Given the description of an element on the screen output the (x, y) to click on. 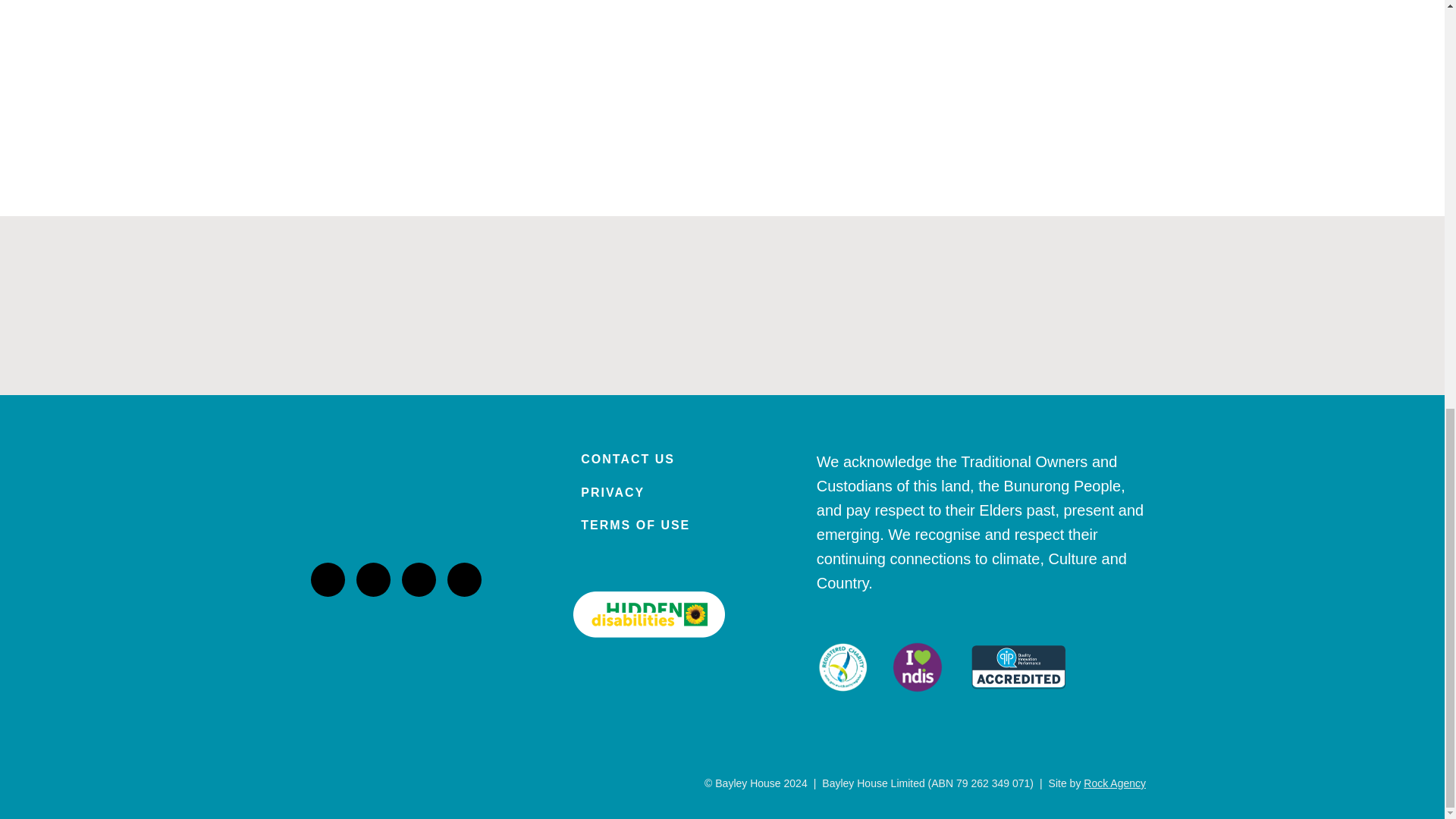
Instagram (328, 579)
Linkedin (373, 579)
Youtube (463, 579)
Facebook (418, 579)
